Given the description of an element on the screen output the (x, y) to click on. 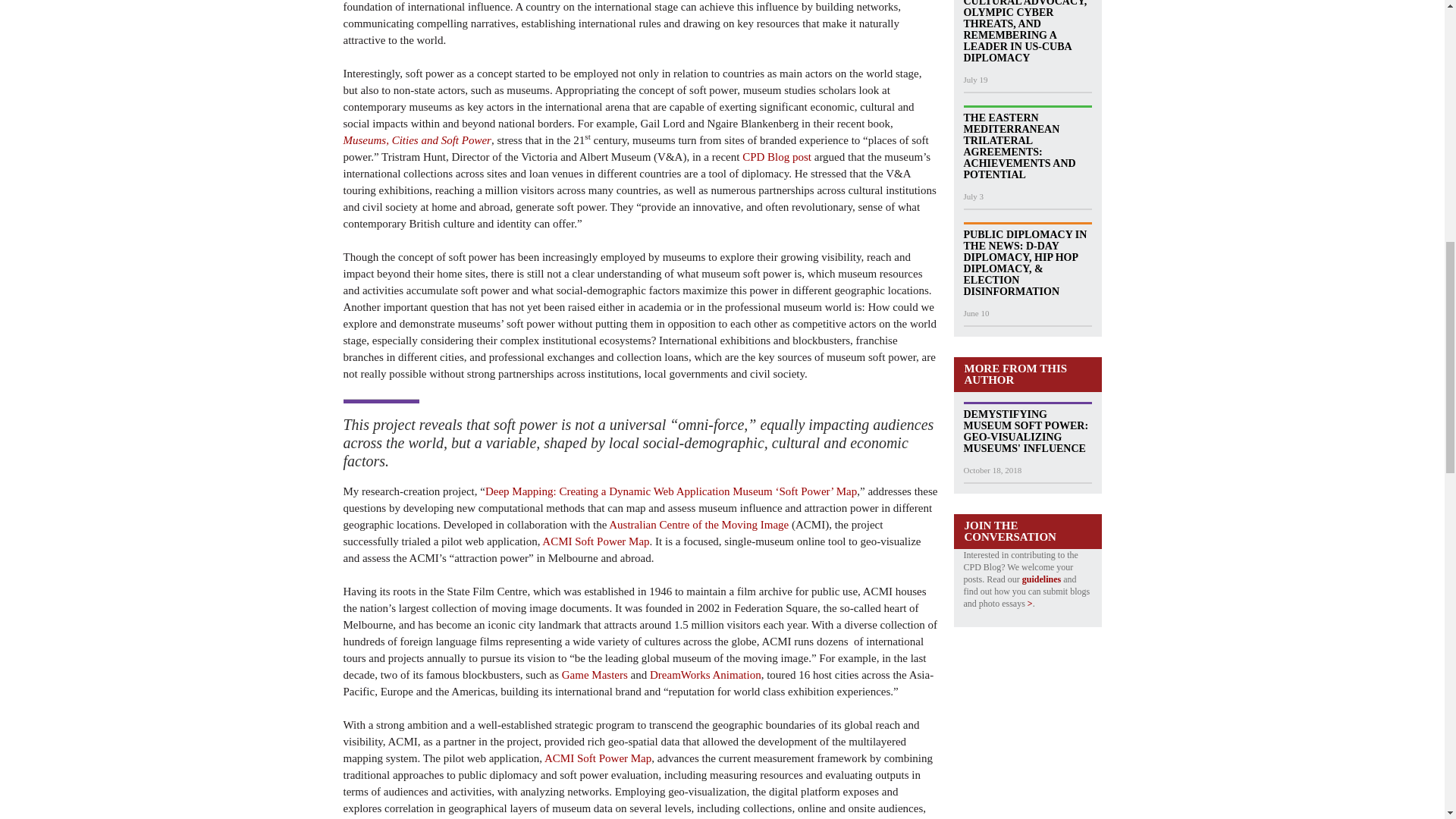
Game Masters (594, 674)
ACMI Soft Power Map (595, 541)
ACMI Soft Power Map (597, 758)
CPD Blog post (776, 155)
Australian Centre of the Moving Image (698, 524)
DreamWorks Animation (705, 674)
Museums, Cities and Soft Power (416, 139)
